Given the description of an element on the screen output the (x, y) to click on. 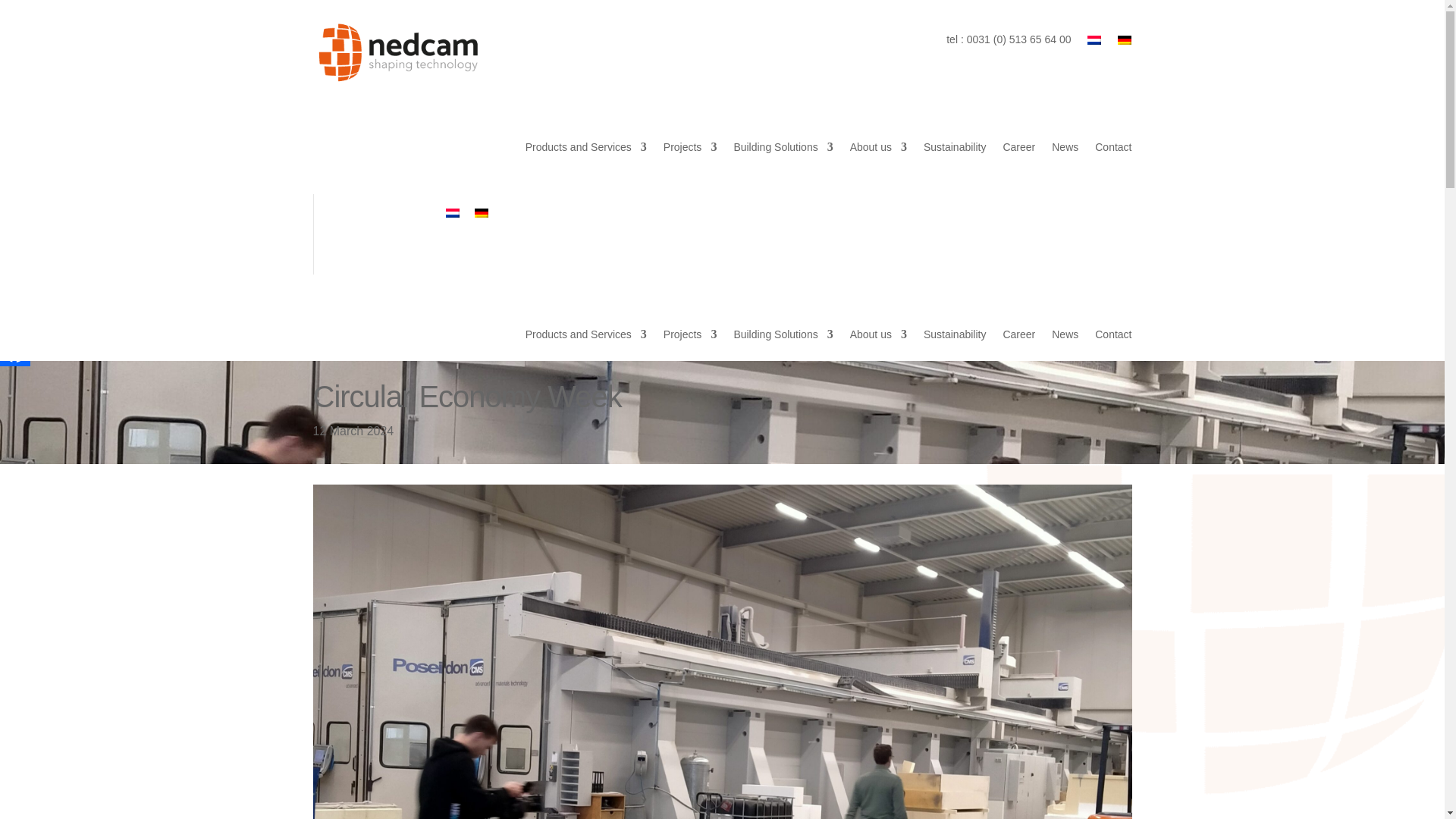
Linkedin (15, 250)
logo (398, 53)
Projects (690, 147)
Products and Services (585, 147)
xing (15, 284)
Sustainability (955, 147)
Instagram (15, 317)
Facebook (15, 350)
Career (1019, 147)
Building Solutions (782, 147)
News (1064, 147)
Contact (1112, 147)
About us (878, 147)
